Given the description of an element on the screen output the (x, y) to click on. 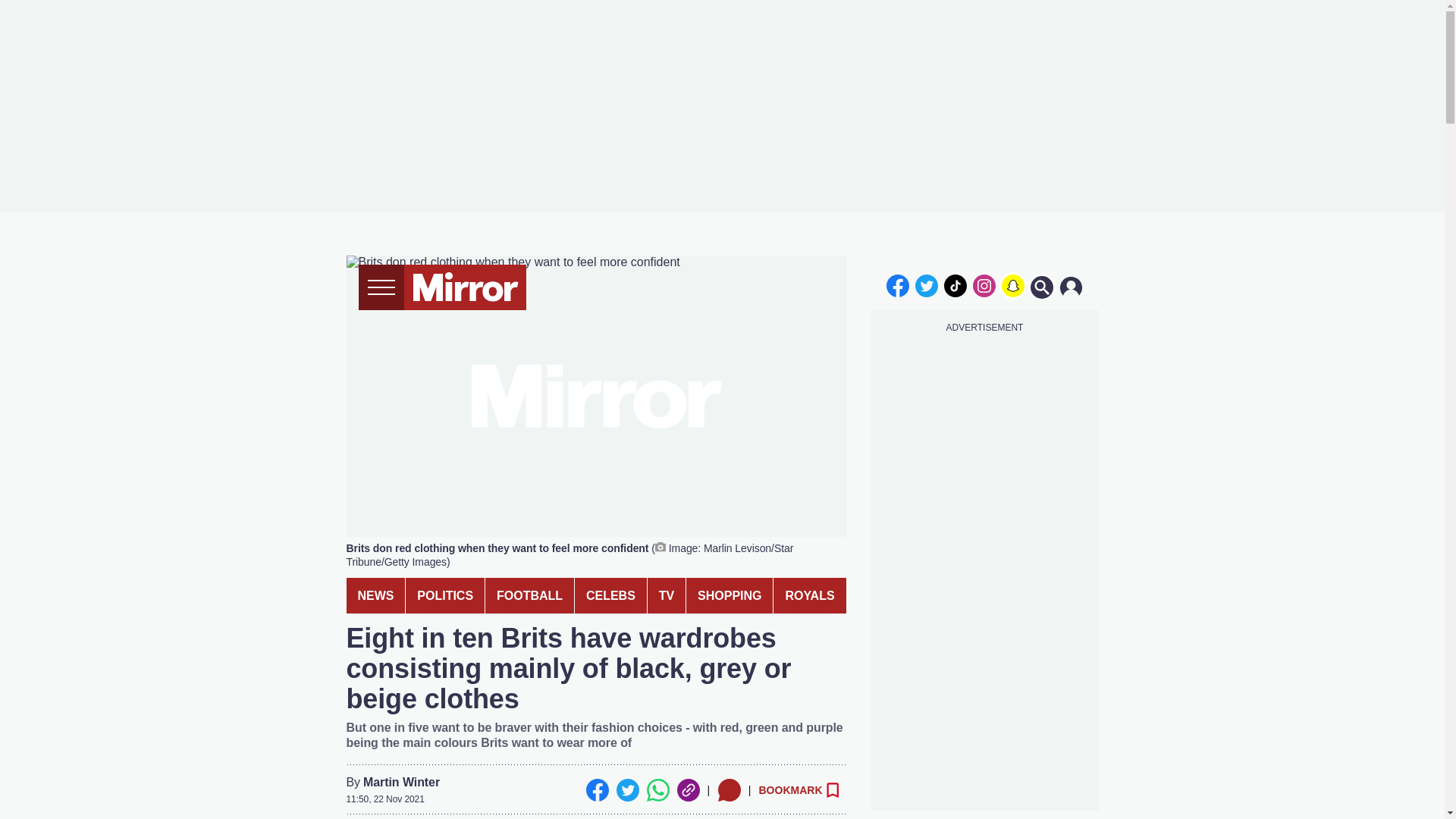
FOOTBALL (528, 595)
POLITICS (445, 595)
NEWS (375, 595)
snapchat (1012, 285)
tiktok (955, 285)
Twitter (627, 789)
twitter (926, 285)
instagram (984, 285)
Facebook (596, 789)
CELEBS (610, 595)
